Given the description of an element on the screen output the (x, y) to click on. 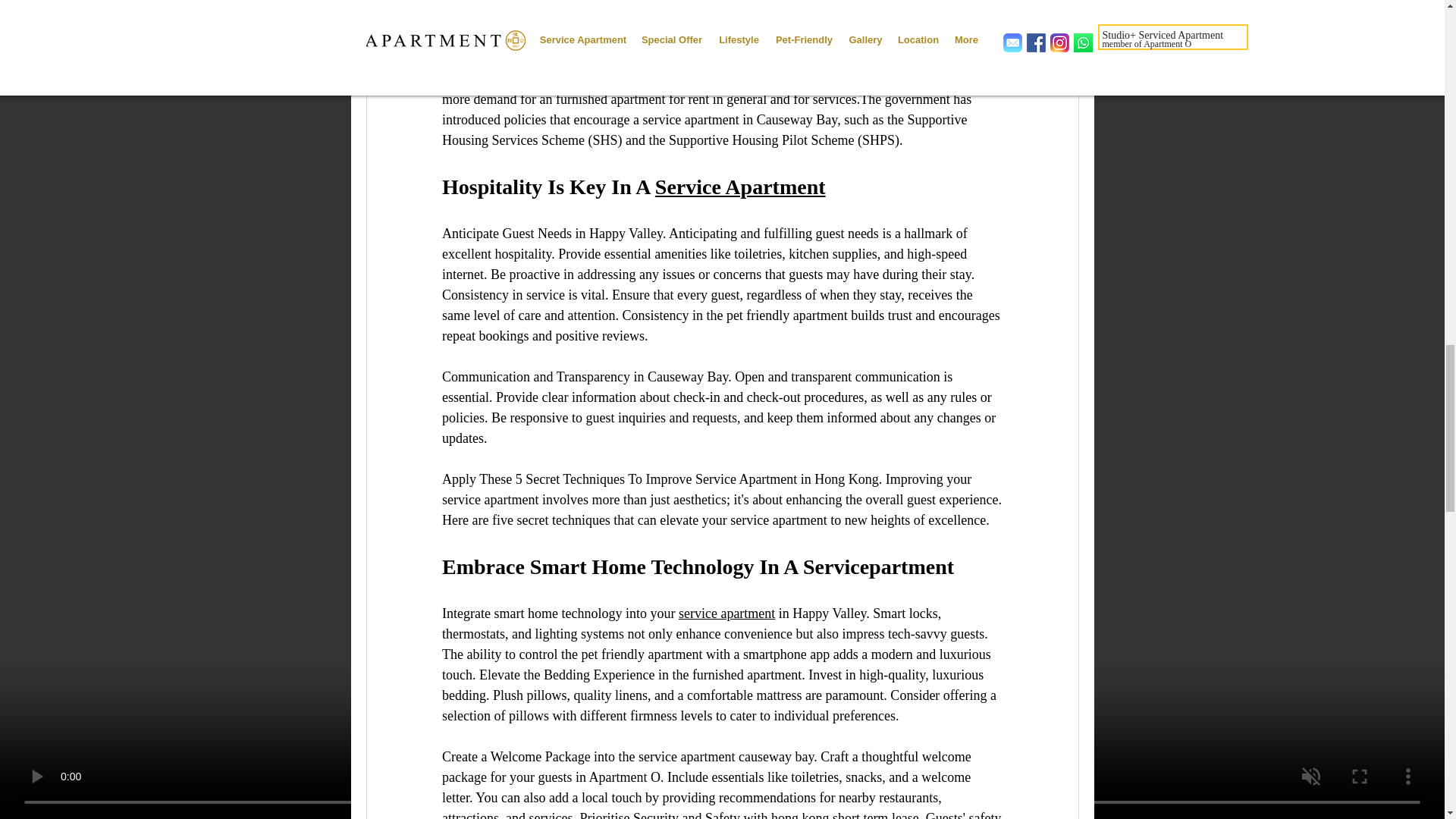
Service Apartment (739, 187)
service apartment (726, 613)
